Given the description of an element on the screen output the (x, y) to click on. 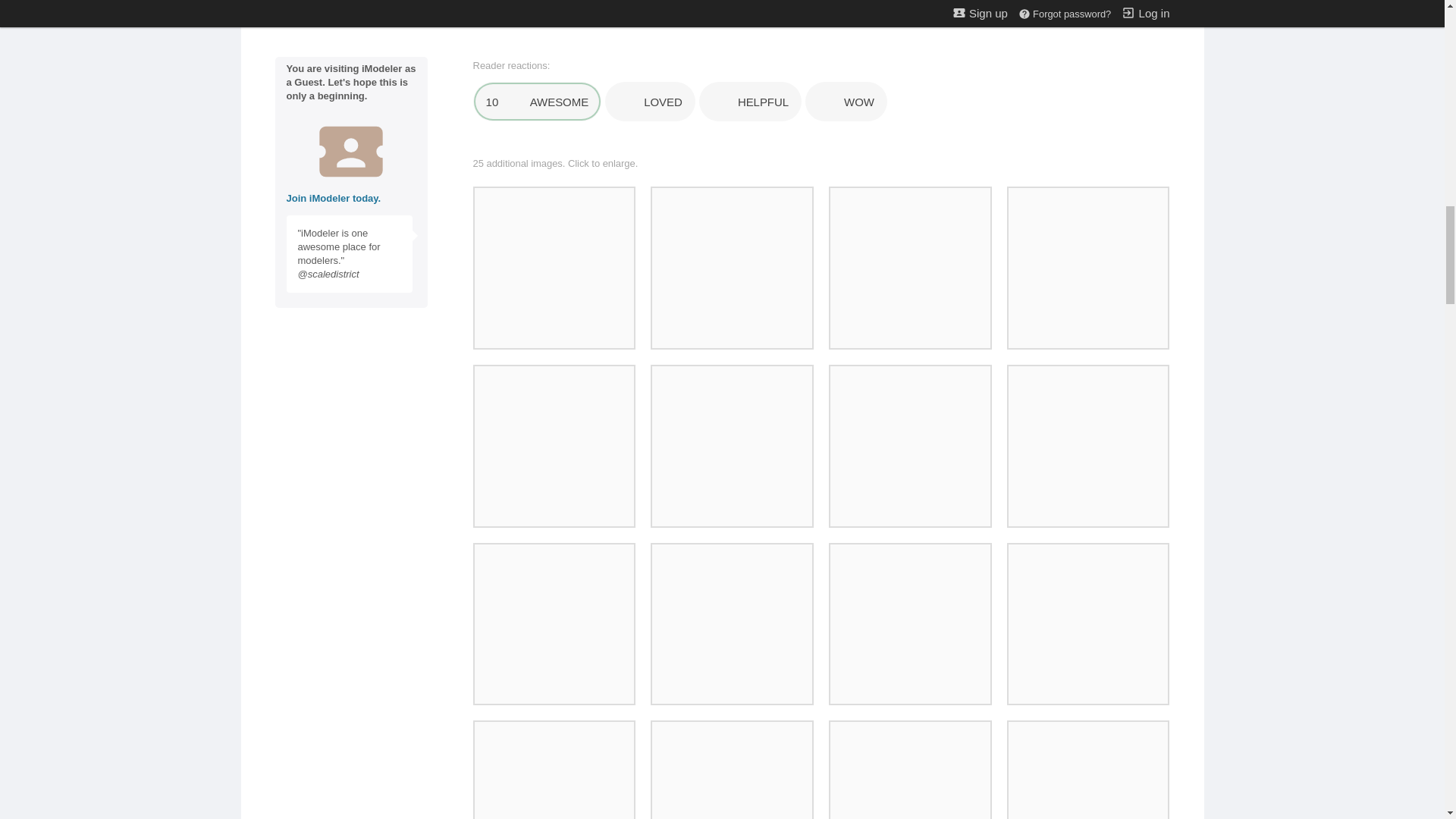
I learned something! (750, 101)
LOVED (650, 101)
I'm fond of this (650, 101)
WOW (845, 101)
Great effort! (537, 101)
Amazing! (845, 101)
HELPFUL (750, 101)
10  AWESOME (537, 101)
